Given the description of an element on the screen output the (x, y) to click on. 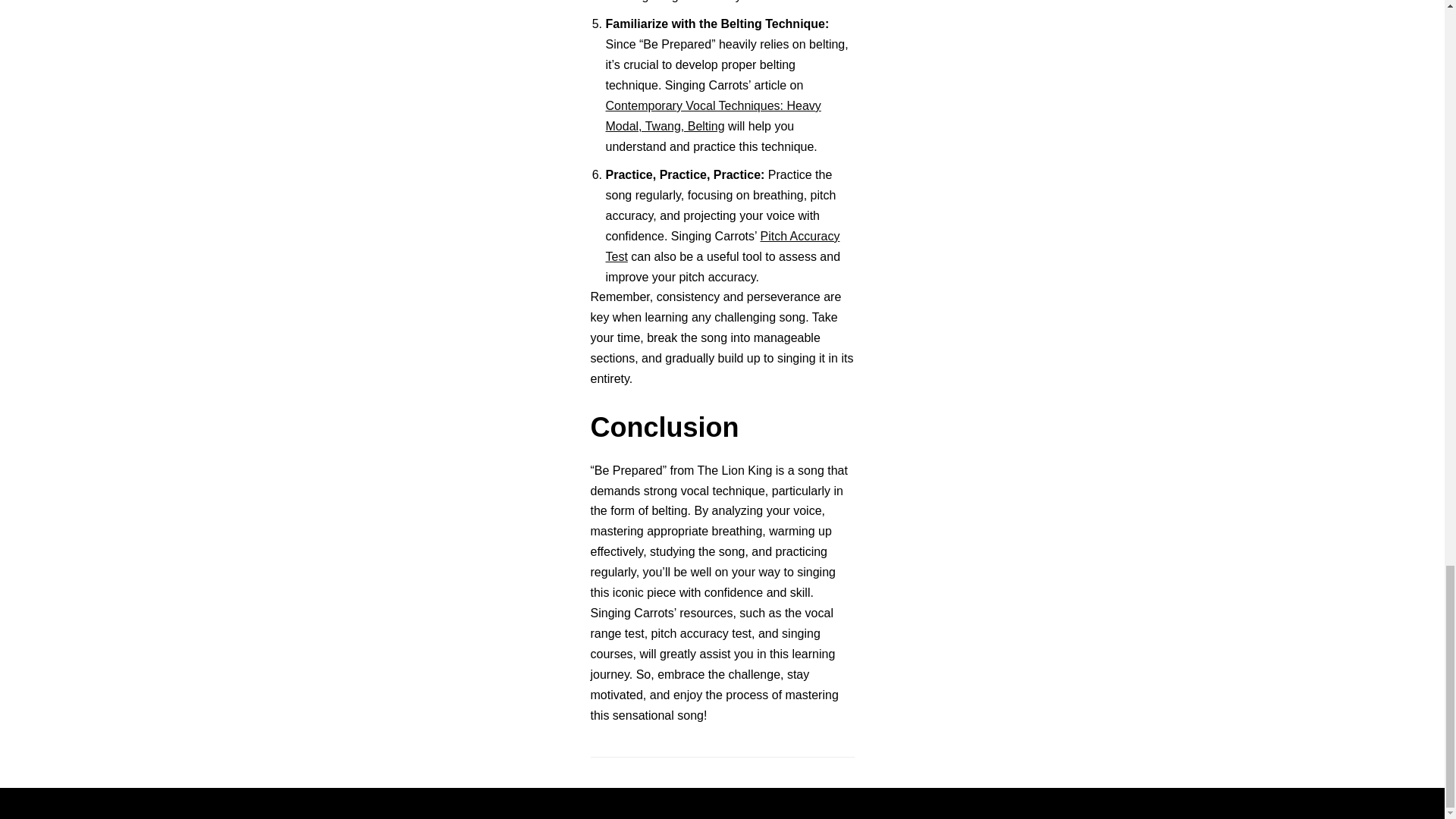
Pitch Accuracy Test (722, 246)
Neve (652, 802)
Contemporary Vocal Techniques: Heavy Modal, Twang, Belting (713, 115)
WordPress (775, 802)
